Given the description of an element on the screen output the (x, y) to click on. 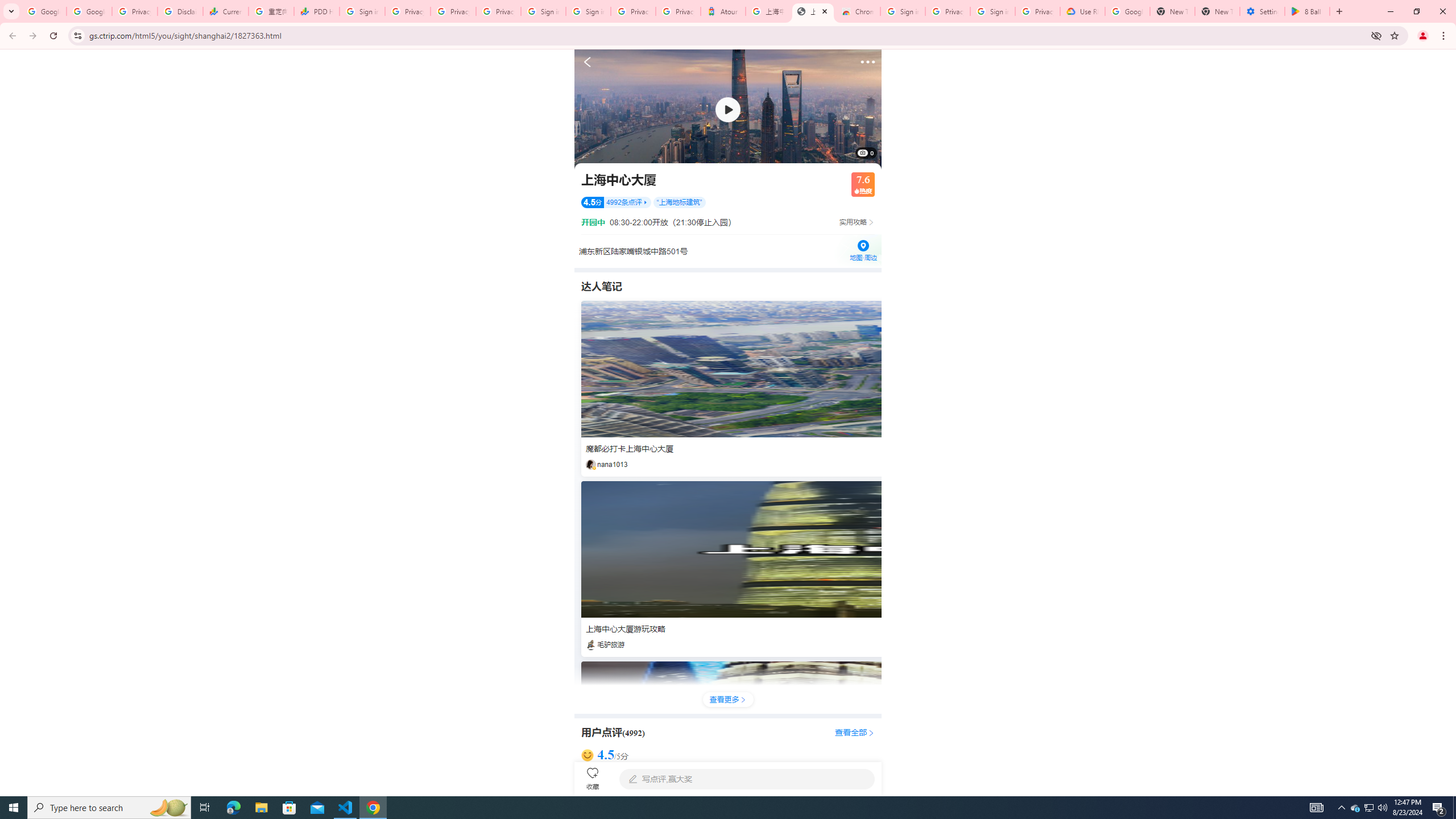
Sign in - Google Accounts (992, 11)
Sign in - Google Accounts (587, 11)
Currencies - Google Finance (225, 11)
Privacy Checkup (452, 11)
Privacy Checkup (497, 11)
Sign in - Google Accounts (362, 11)
Sign in - Google Accounts (902, 11)
